Given the description of an element on the screen output the (x, y) to click on. 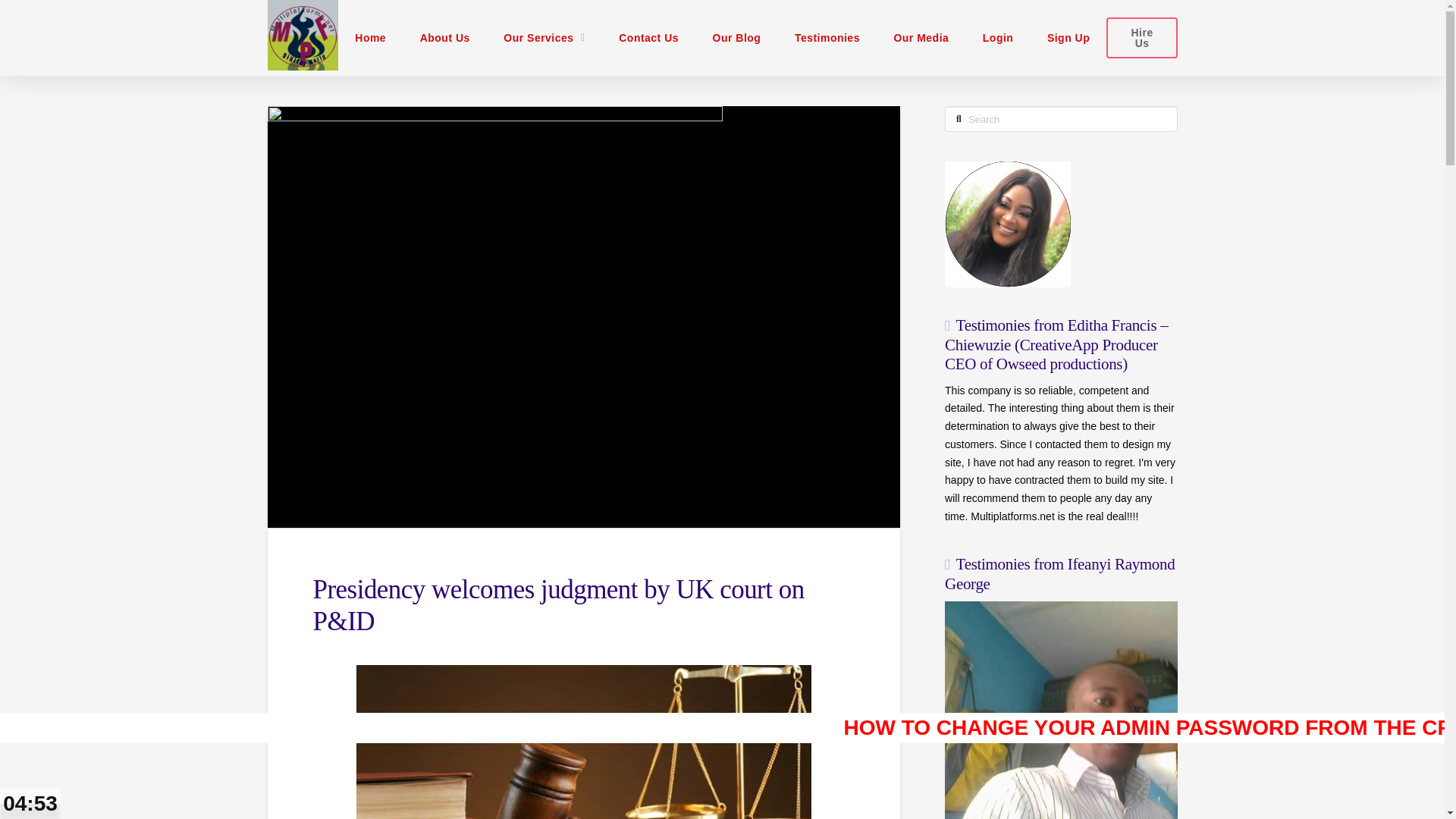
Our Services (544, 38)
Login (997, 38)
Sign Up (1067, 38)
Our Media (920, 38)
Our Blog (736, 38)
Hire Us (1141, 37)
About Us (444, 38)
Home (370, 38)
Contact Us (648, 38)
Testimonies (826, 38)
